Given the description of an element on the screen output the (x, y) to click on. 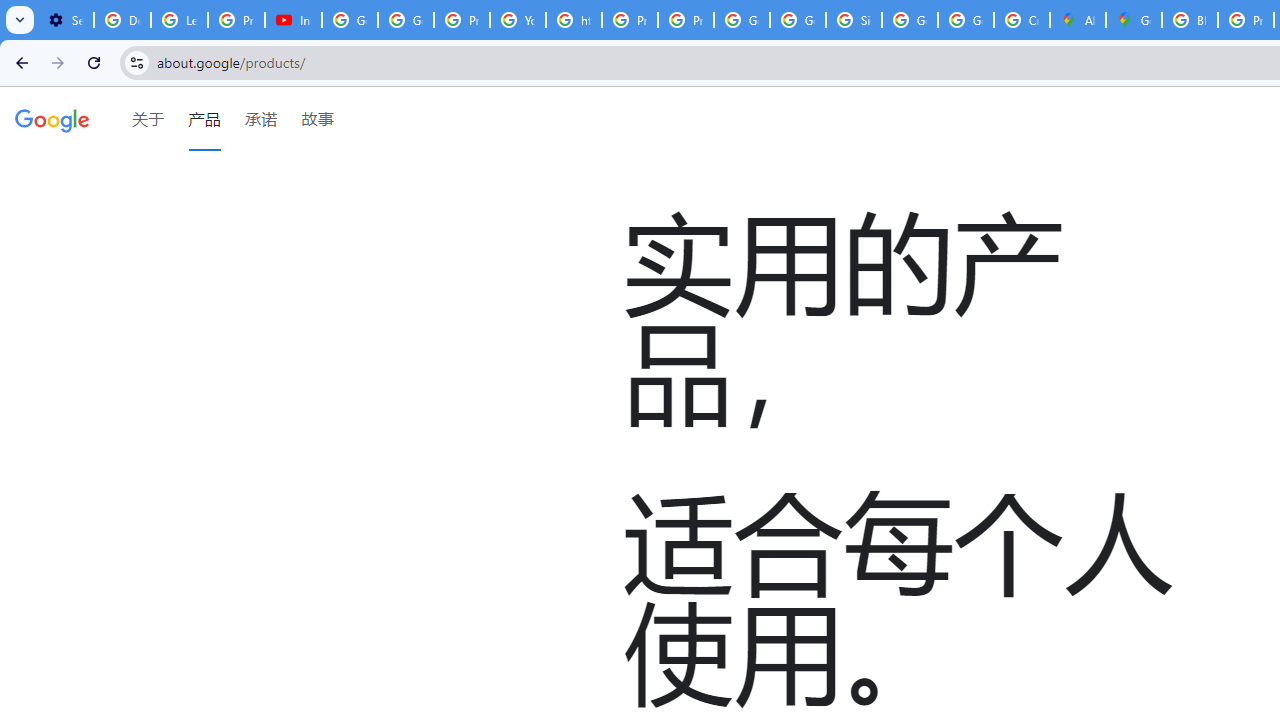
YouTube (518, 20)
Settings - Customize profile (65, 20)
Blogger Policies and Guidelines - Transparency Center (1190, 20)
Google Account Help (349, 20)
